Given the description of an element on the screen output the (x, y) to click on. 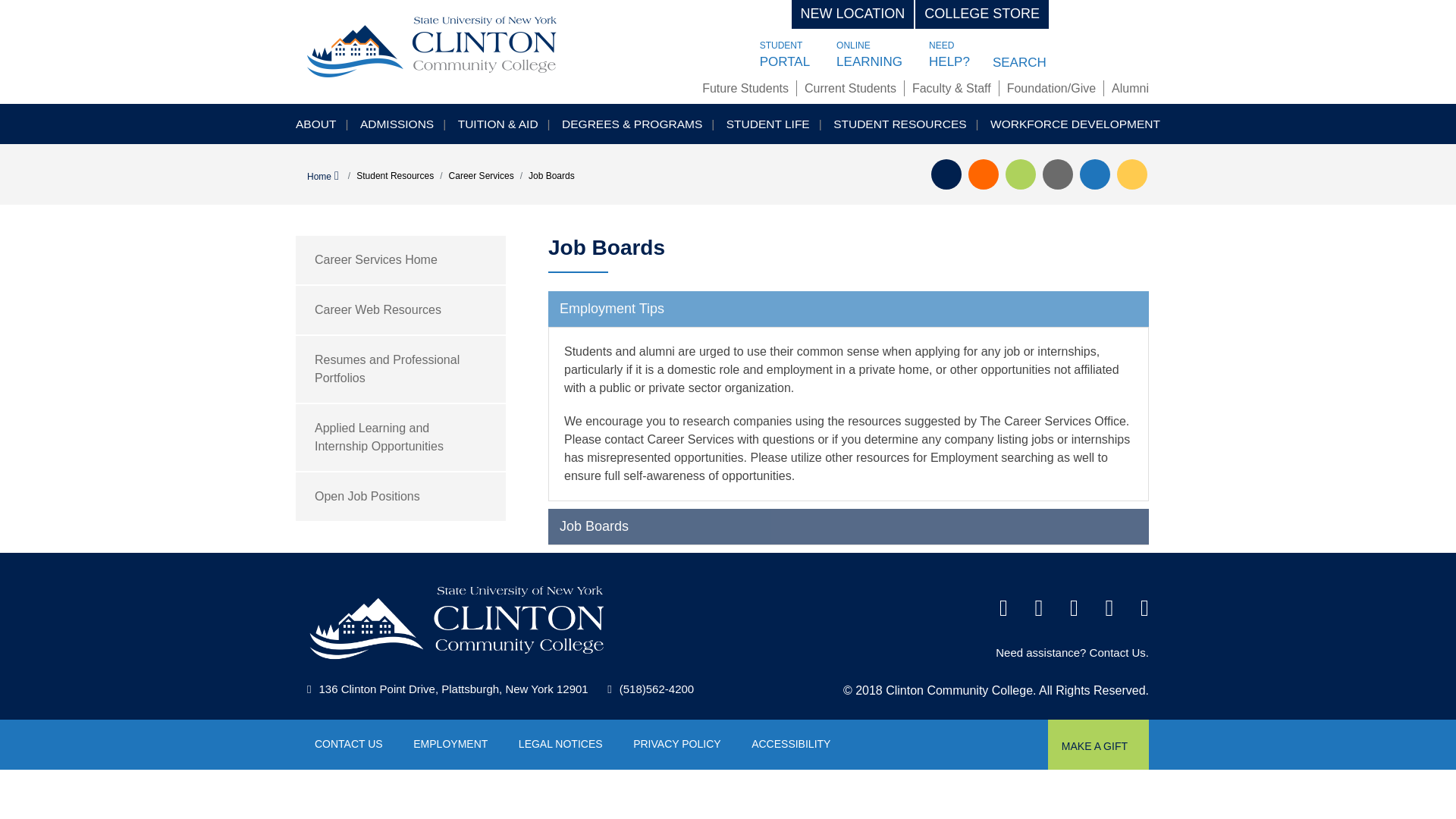
ABOUT (319, 123)
Current Students (850, 88)
Student Resources (394, 175)
WORKFORCE DEVELOPMENT (1071, 123)
COLLEGE STORE (981, 14)
Pay for College (1020, 173)
How to Register (1094, 173)
Career Web Resources (400, 309)
Course Schedule (1131, 173)
